Given the description of an element on the screen output the (x, y) to click on. 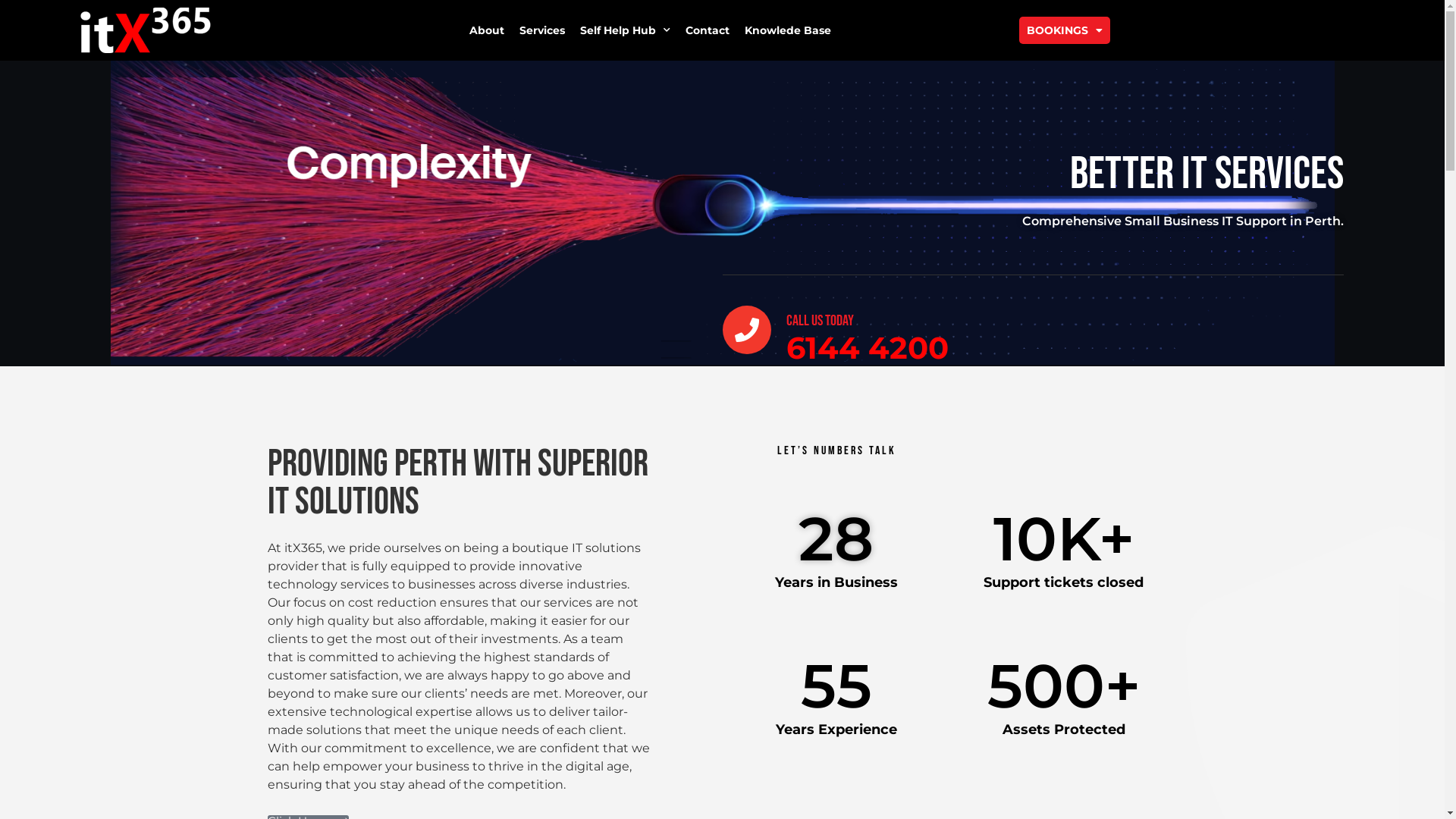
Services Element type: text (541, 29)
About Element type: text (486, 29)
BOOKINGS Element type: text (1064, 29)
Self Help Hub Element type: text (624, 29)
Knowlede Base Element type: text (787, 29)
Contact Element type: text (707, 29)
